Given the description of an element on the screen output the (x, y) to click on. 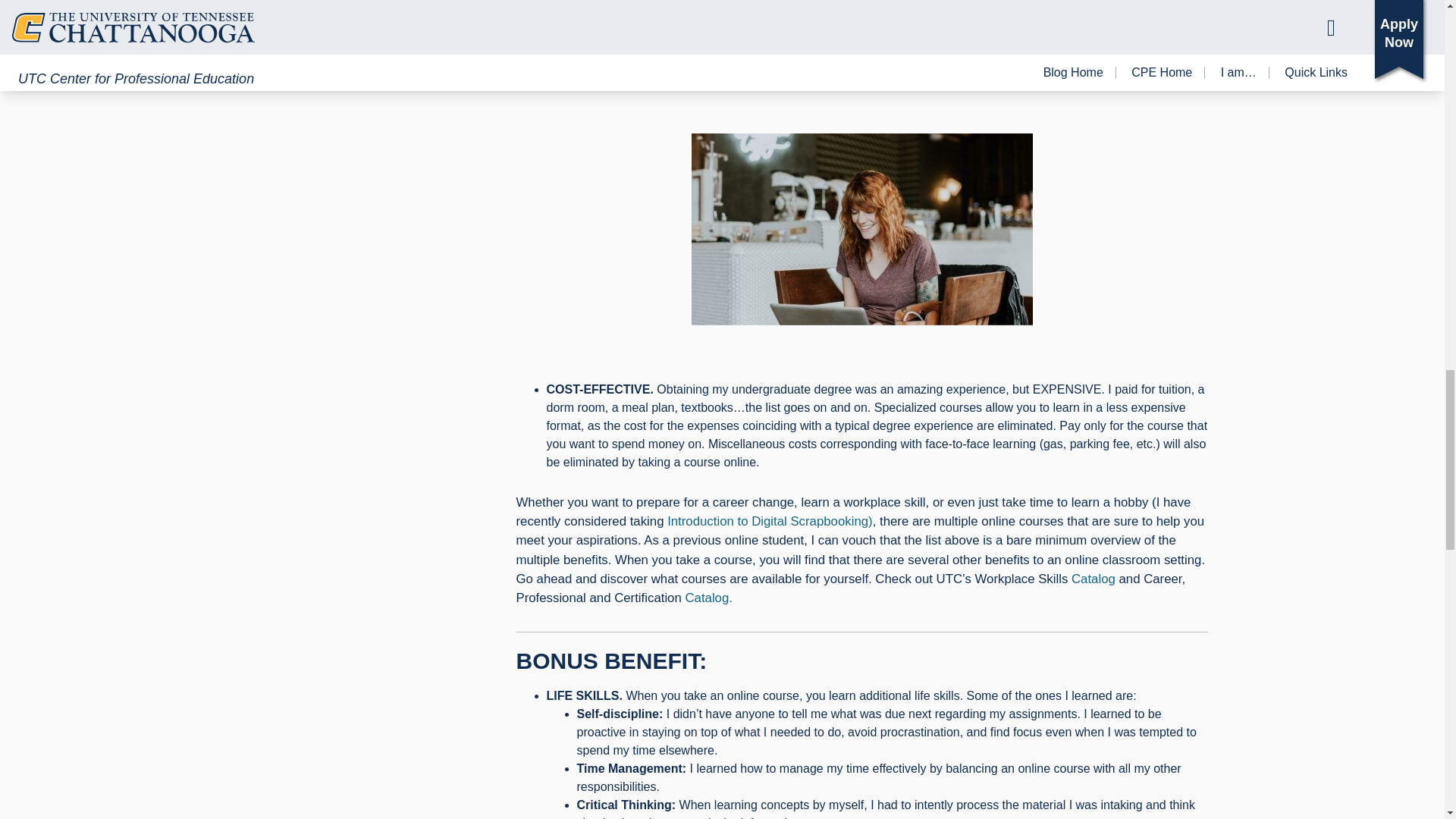
to health and fitness, (1053, 34)
information technology. (866, 43)
construction and trades, (929, 34)
